Given the description of an element on the screen output the (x, y) to click on. 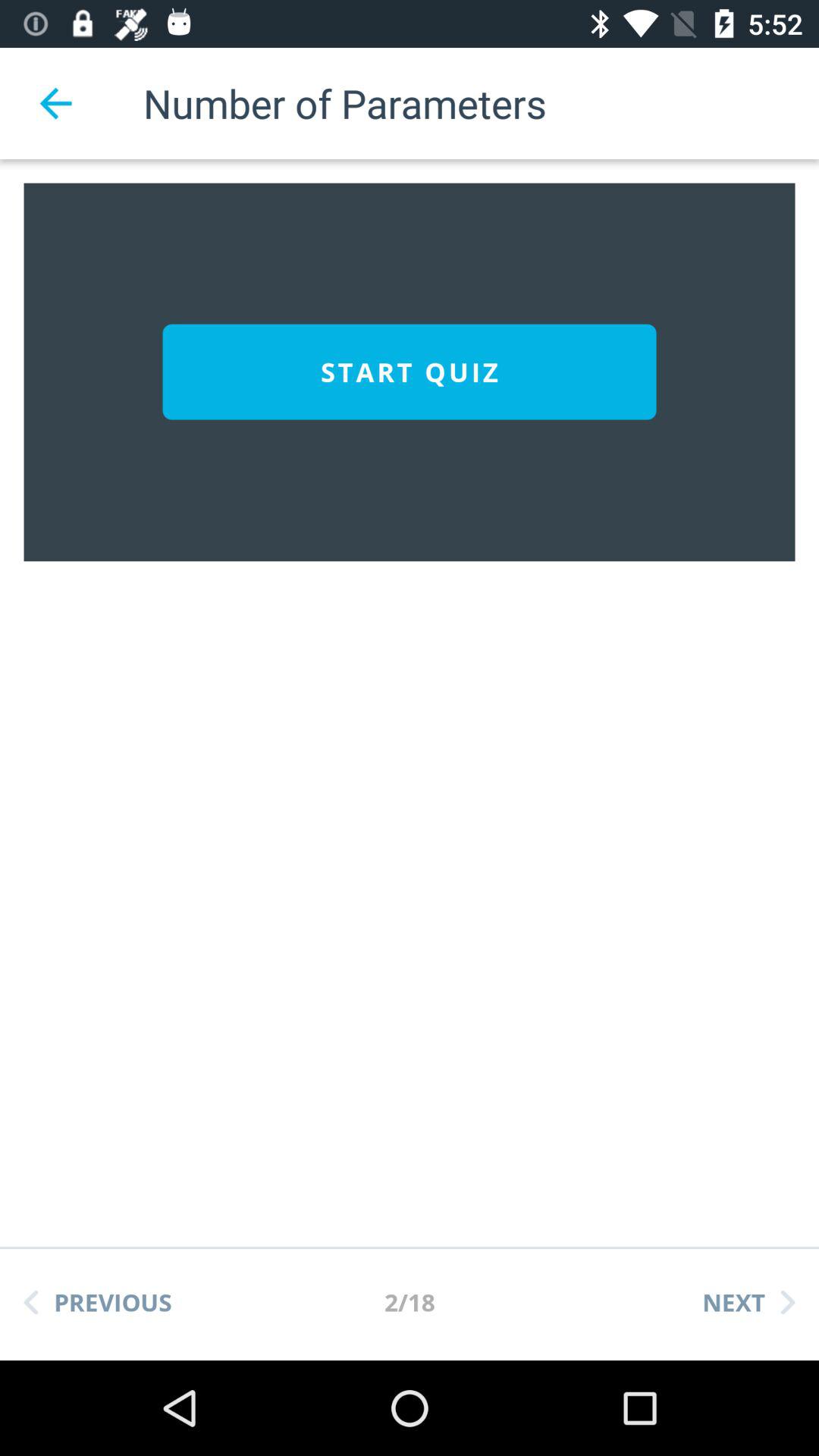
press icon to the left of 2/18 item (97, 1302)
